Given the description of an element on the screen output the (x, y) to click on. 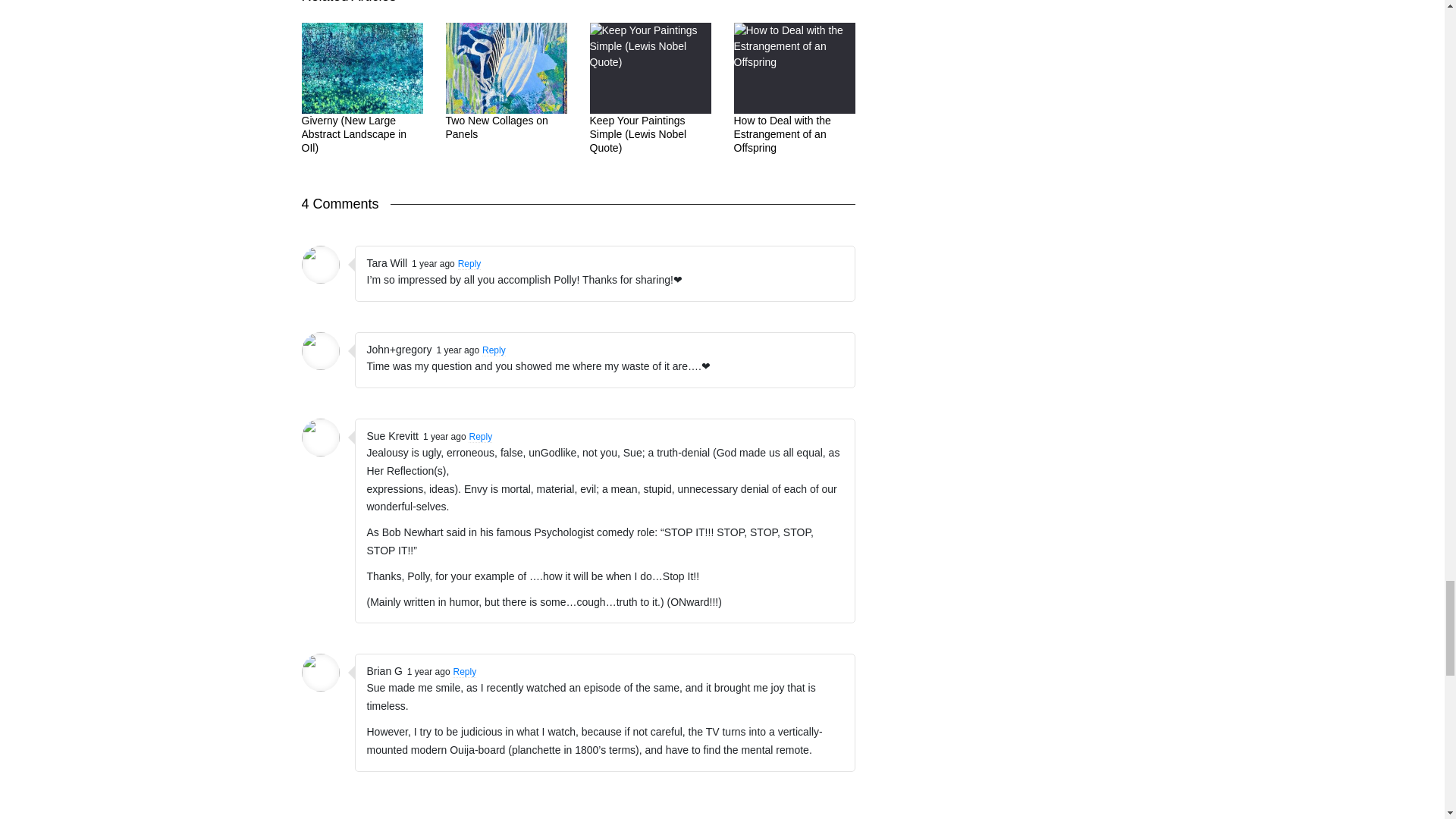
Permanent Link to Two New Collages on Panels (496, 127)
